Given the description of an element on the screen output the (x, y) to click on. 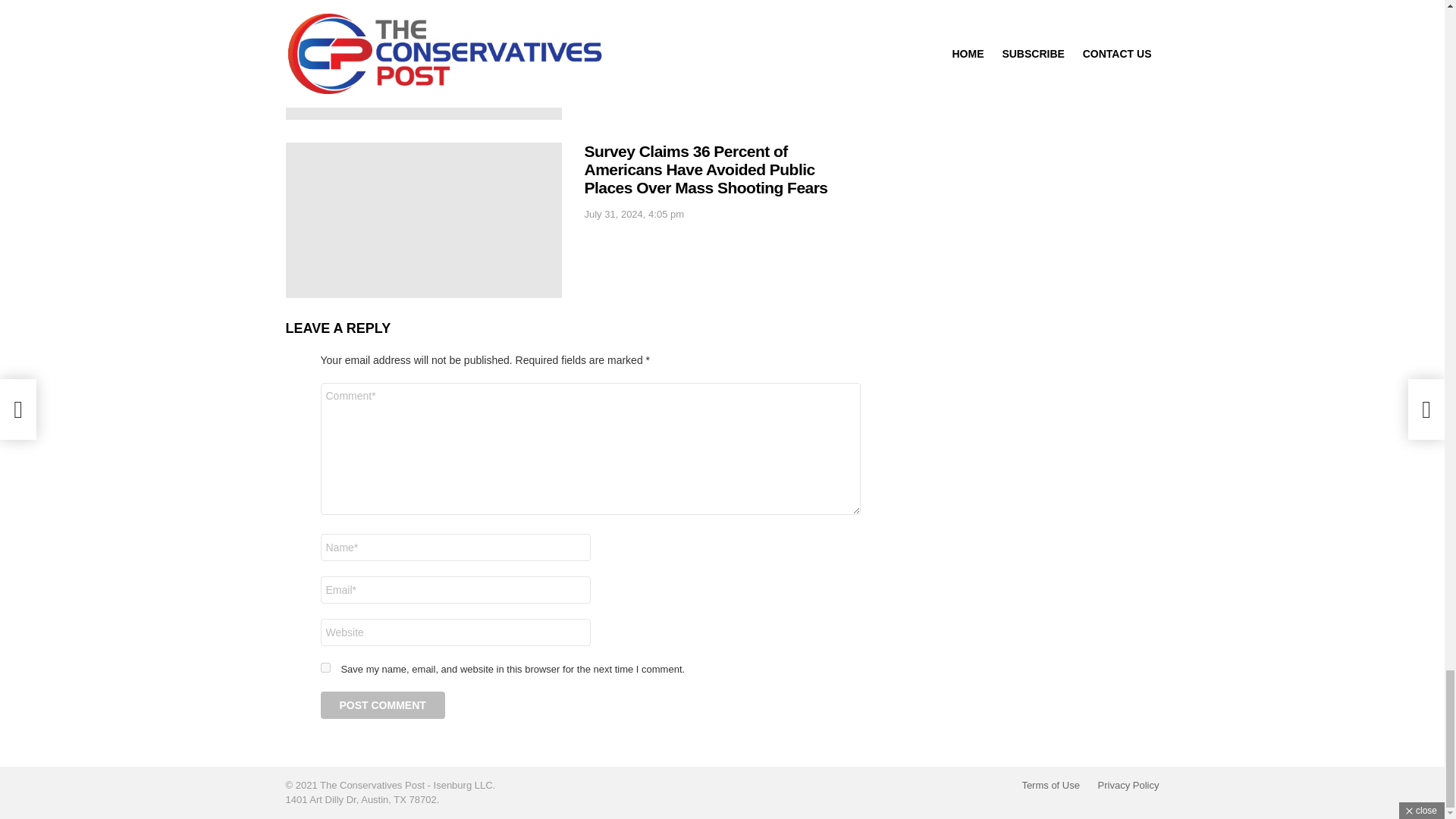
Post Comment (382, 705)
yes (325, 667)
